Given the description of an element on the screen output the (x, y) to click on. 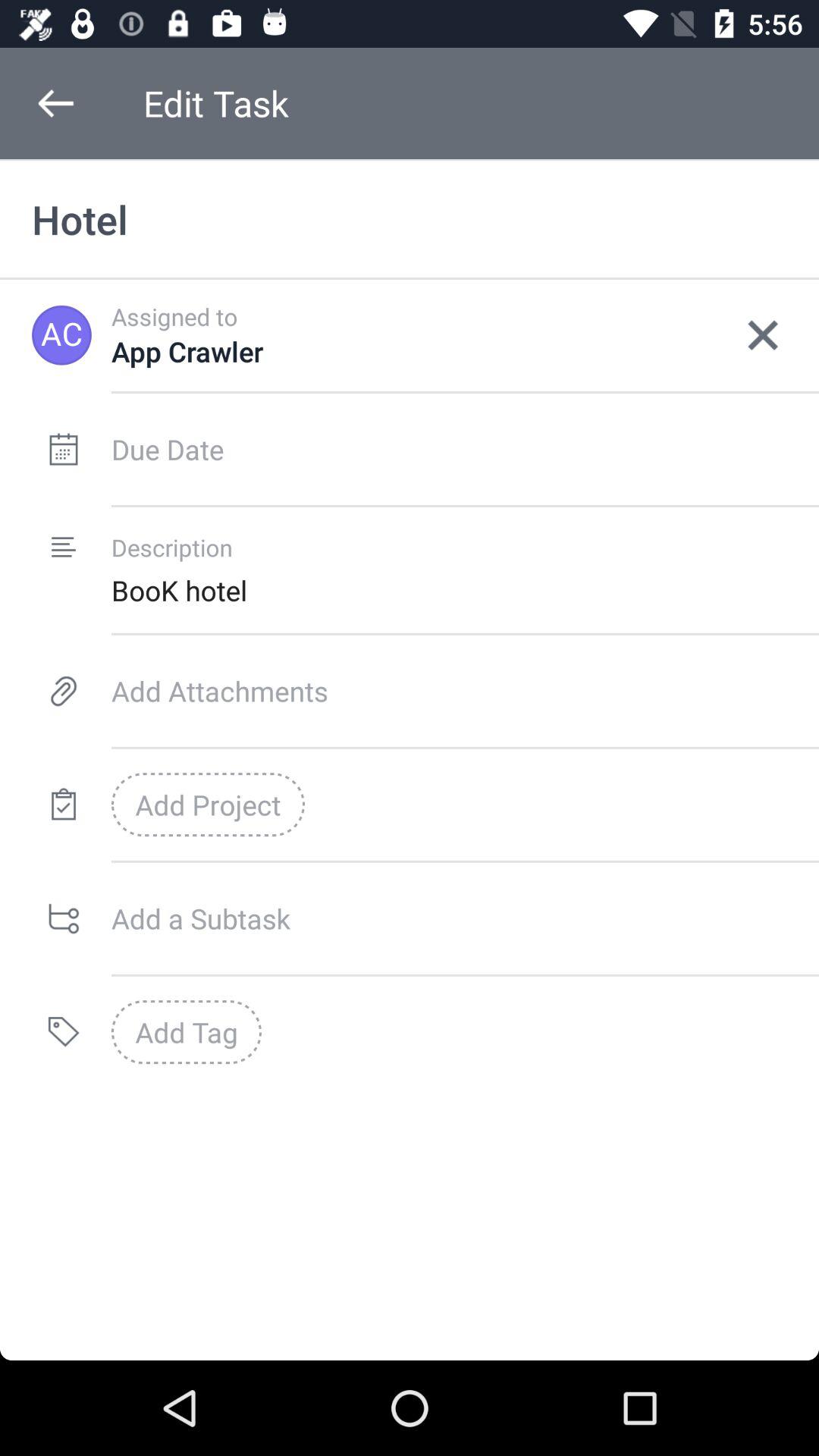
tap the icon to the right of the app crawler icon (763, 335)
